Given the description of an element on the screen output the (x, y) to click on. 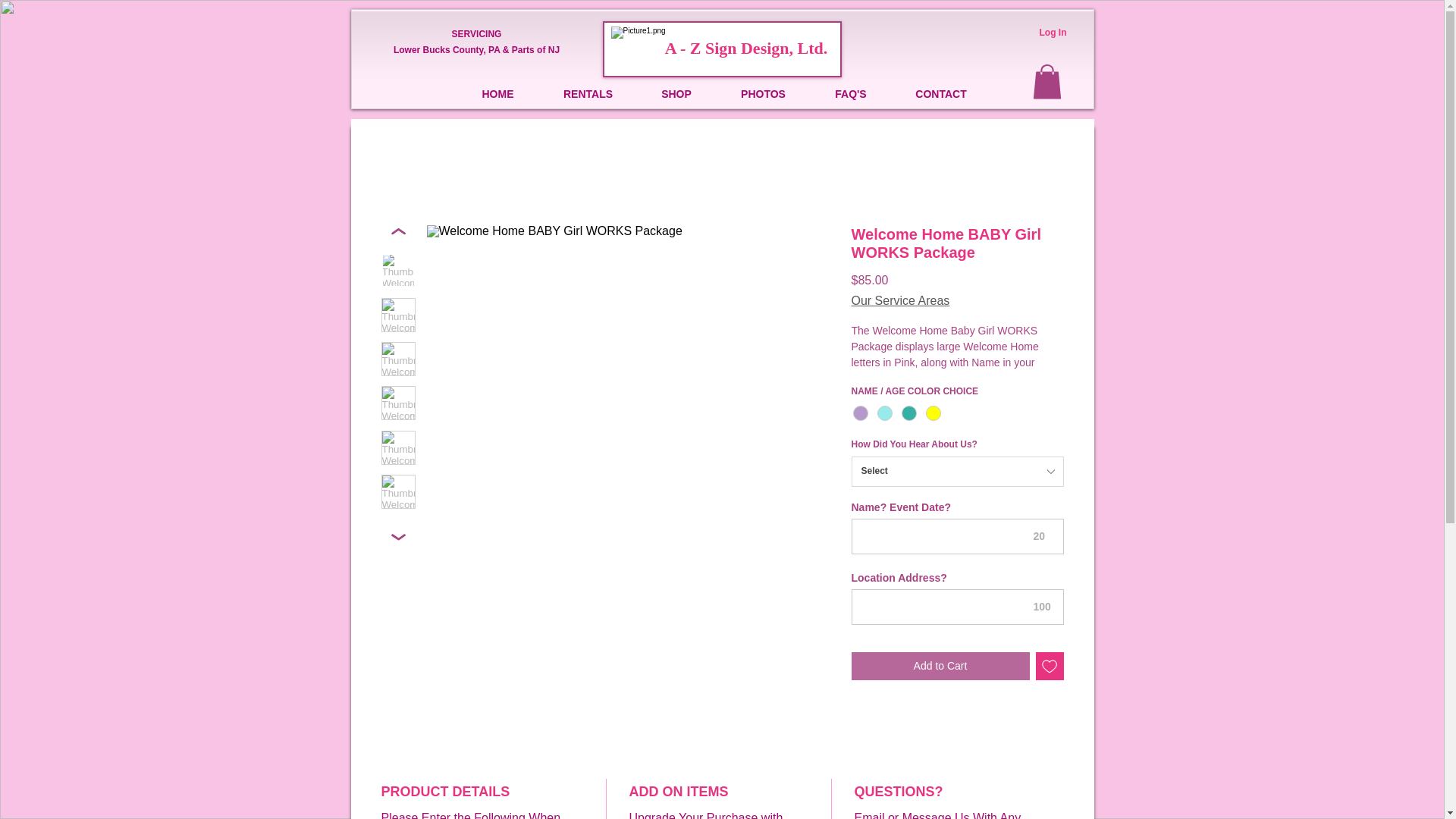
CONTACT (941, 93)
A - Z Sign  (703, 47)
RENTALS (588, 93)
HOME (498, 93)
FAQ'S (850, 93)
SHOP (676, 93)
Add to Cart (939, 665)
PHOTOS (762, 93)
Our Service Areas (899, 300)
Design, Ltd. (784, 47)
